Given the description of an element on the screen output the (x, y) to click on. 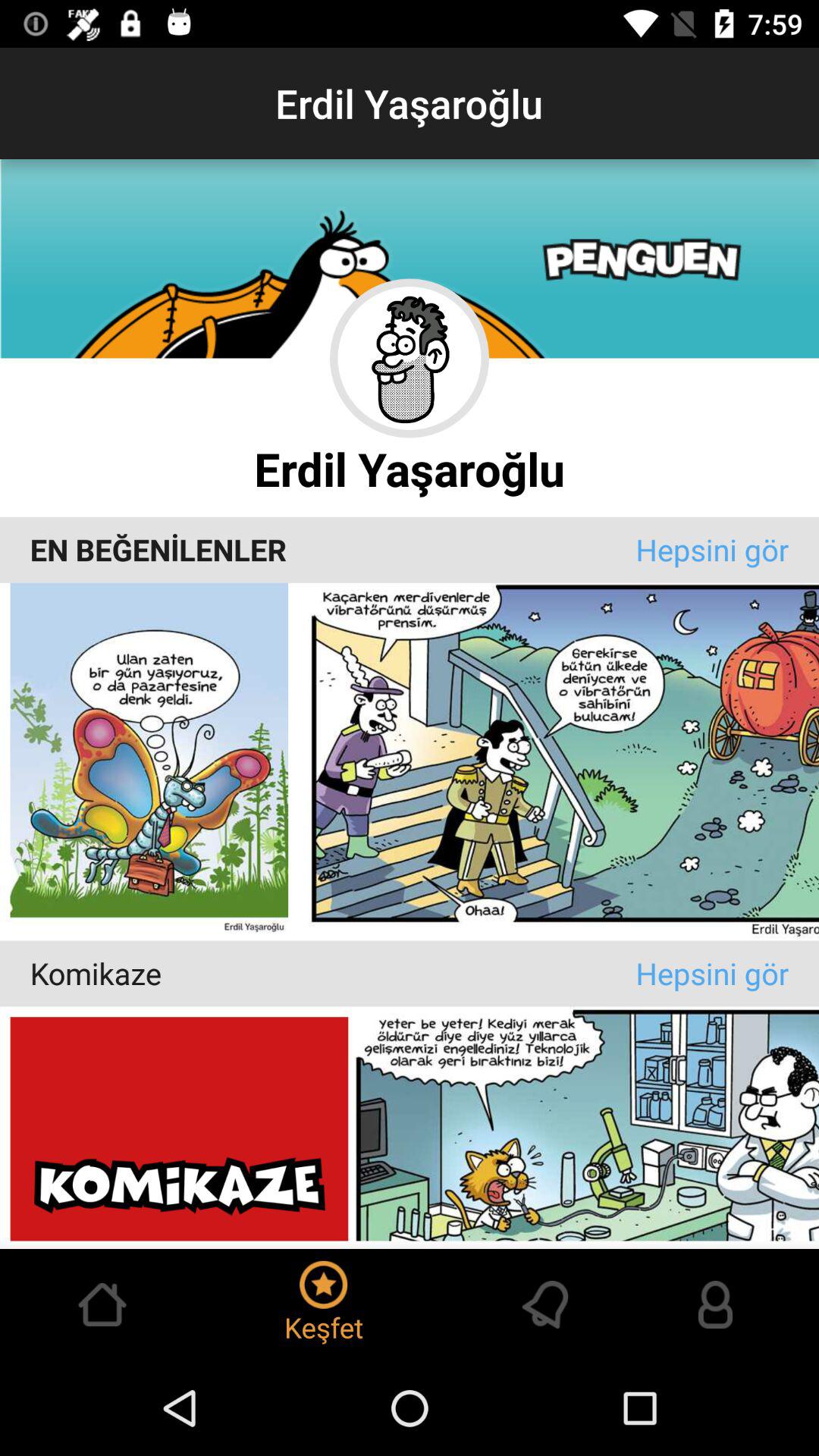
flip until the komikaze (332, 973)
